Given the description of an element on the screen output the (x, y) to click on. 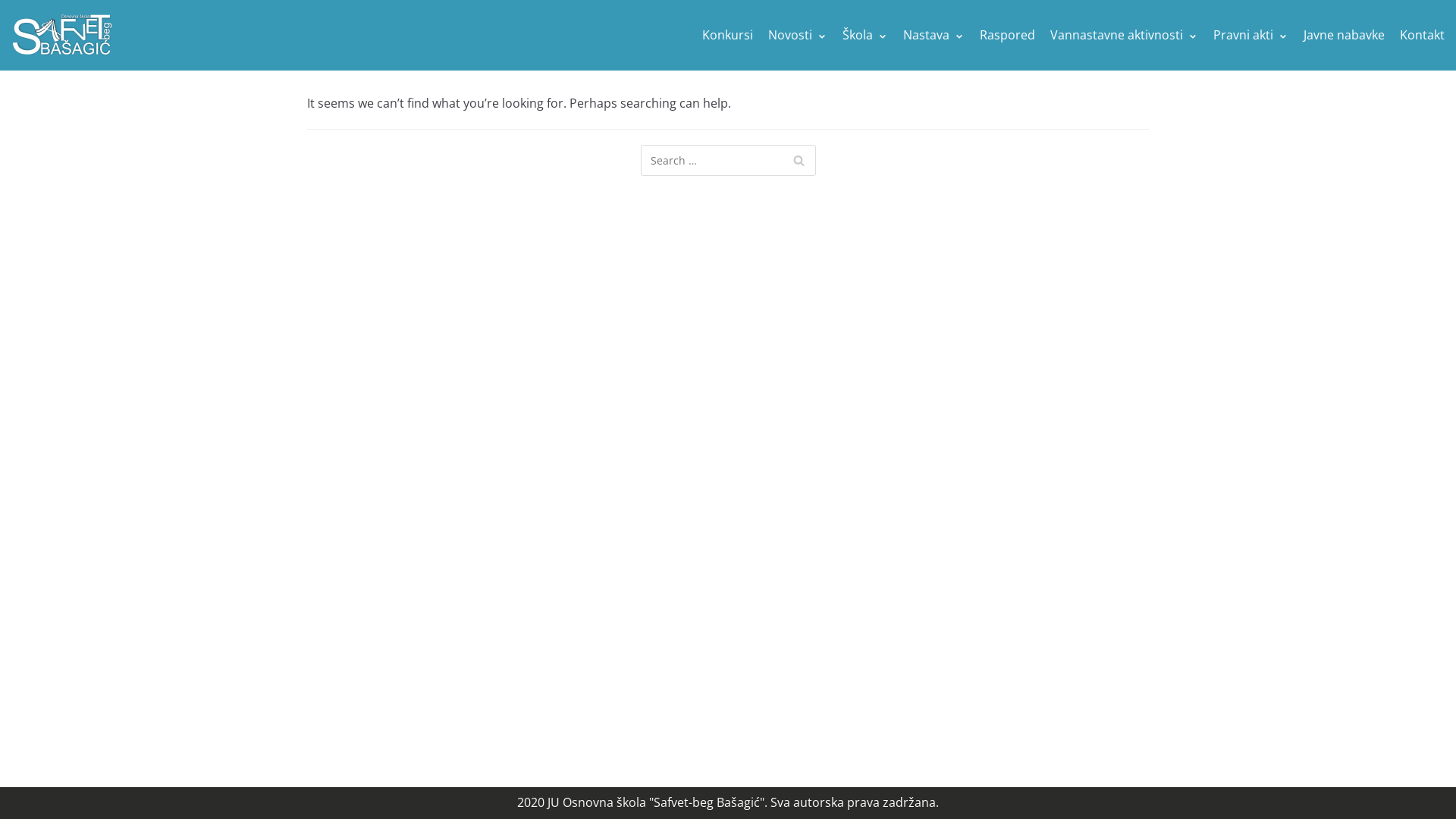
Raspored Element type: text (1007, 35)
Vannastavne aktivnosti Element type: text (1124, 35)
Konkursi Element type: text (727, 35)
Kontakt Element type: text (1421, 35)
Pravni akti Element type: text (1250, 35)
Novosti Element type: text (797, 35)
Skip to content Element type: text (15, 7)
Search Element type: text (798, 159)
Javne nabavke Element type: text (1343, 35)
Nastava Element type: text (933, 35)
